Given the description of an element on the screen output the (x, y) to click on. 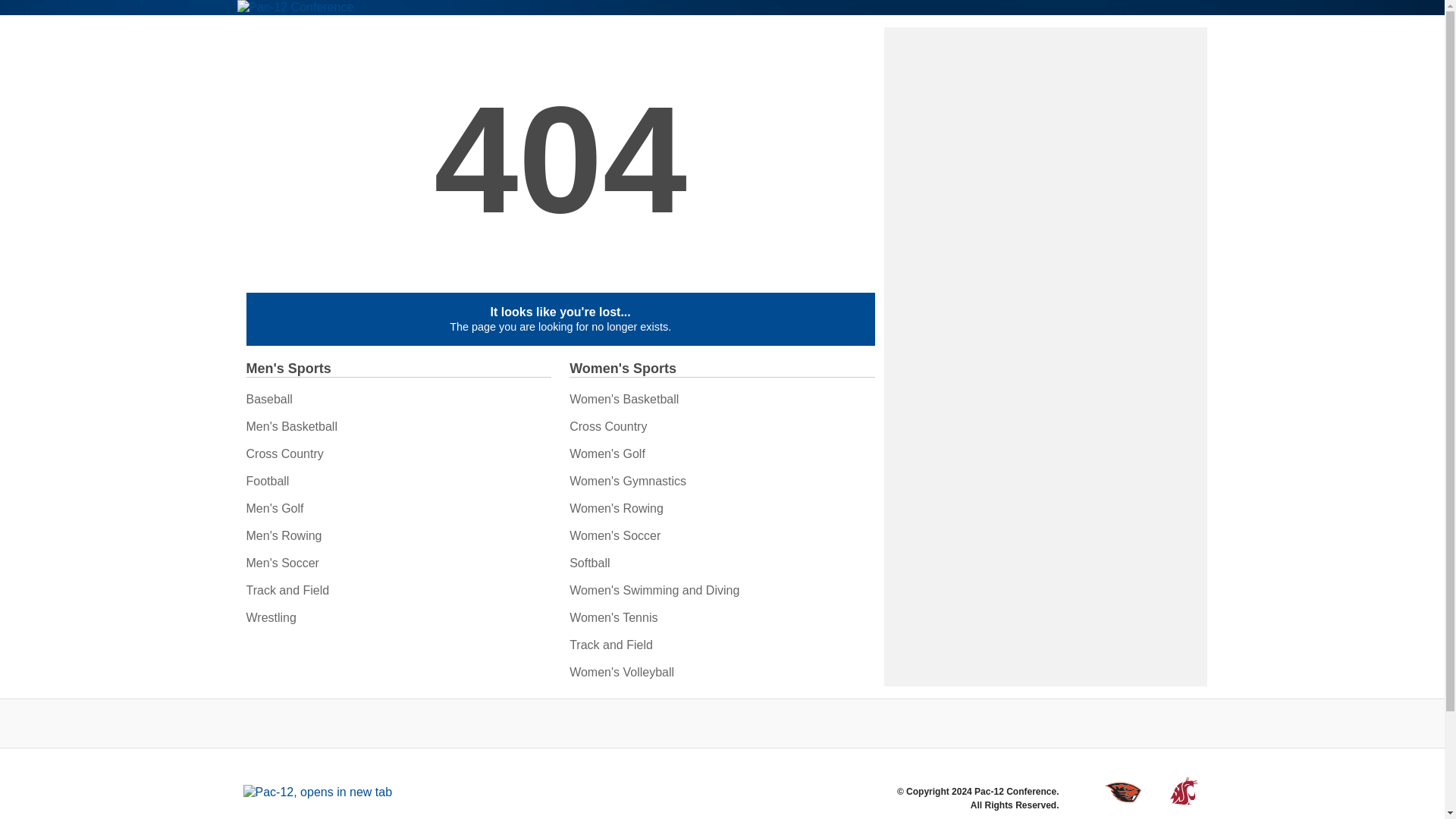
Men's Basketball (291, 426)
Men's Golf (274, 508)
Football (267, 481)
Cross Country (284, 453)
Track and Field (287, 590)
Men's Rowing (283, 535)
Baseball (269, 399)
Men's Soccer (282, 562)
